Given the description of an element on the screen output the (x, y) to click on. 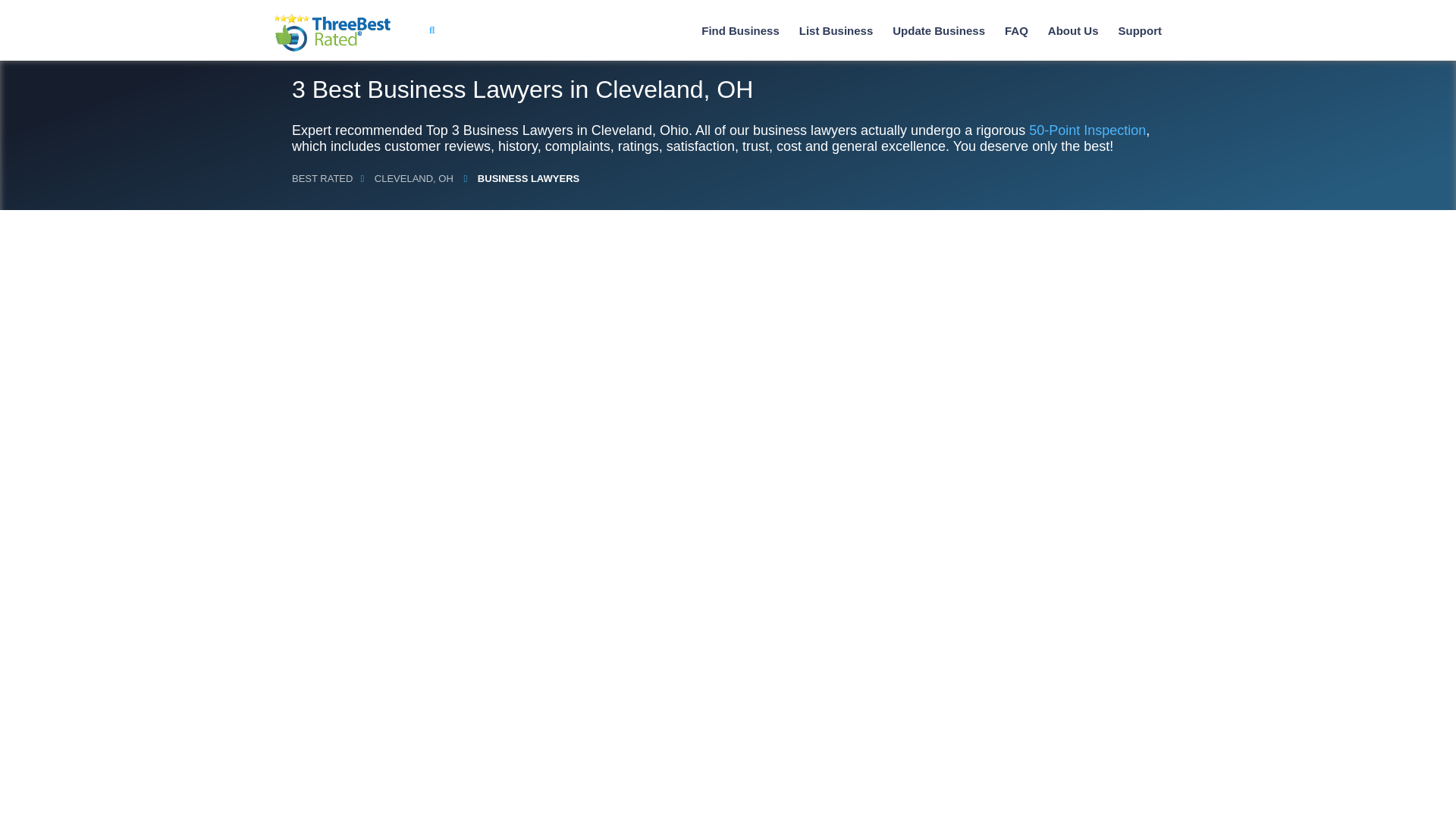
Update your business for Free! (938, 30)
Support (1139, 30)
BEST RATED (321, 178)
50-Point Inspection (1087, 130)
Find Business (740, 30)
About Us (1073, 30)
CLEVELAND, OH (413, 178)
How does Three Best Rated U.S. work? (1073, 30)
List your business for Free! (836, 30)
FAQ (1016, 30)
ThreeBestRated.com (331, 32)
List Business (836, 30)
Update Business (938, 30)
